Given the description of an element on the screen output the (x, y) to click on. 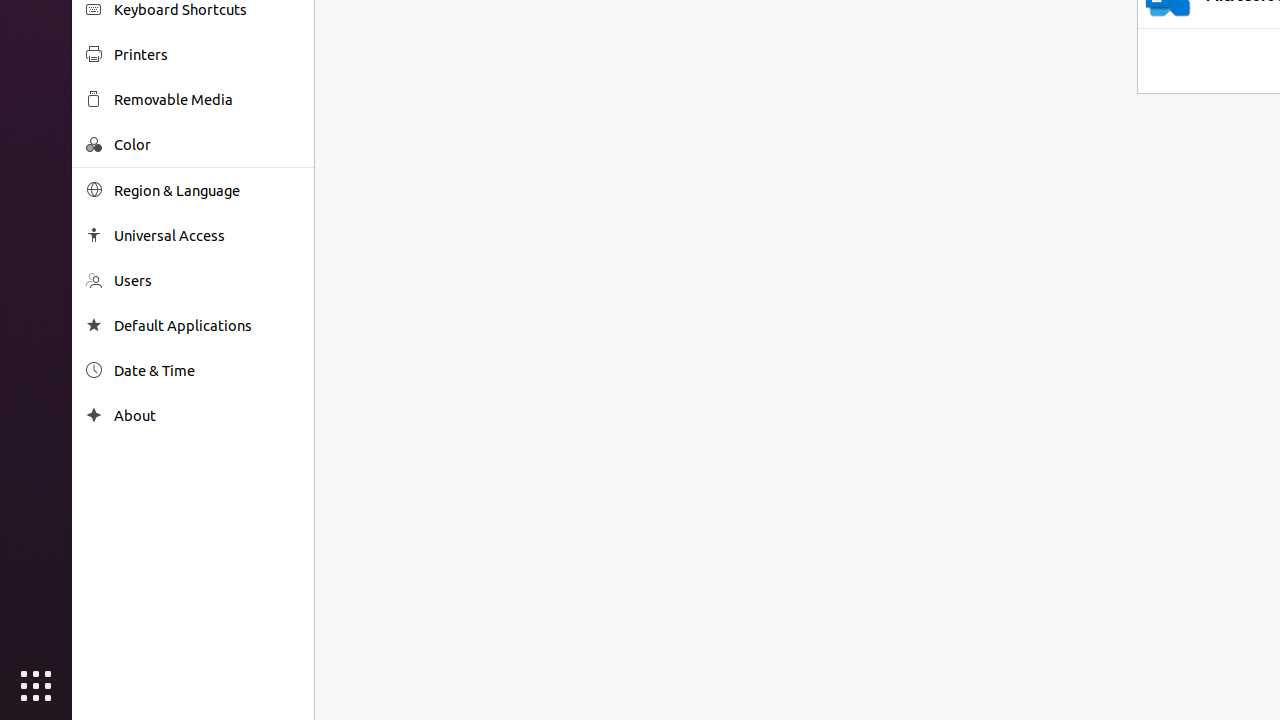
Removable Media Element type: label (207, 99)
Region & Language Element type: label (207, 190)
Color Element type: label (207, 144)
Printers Element type: label (207, 54)
